Given the description of an element on the screen output the (x, y) to click on. 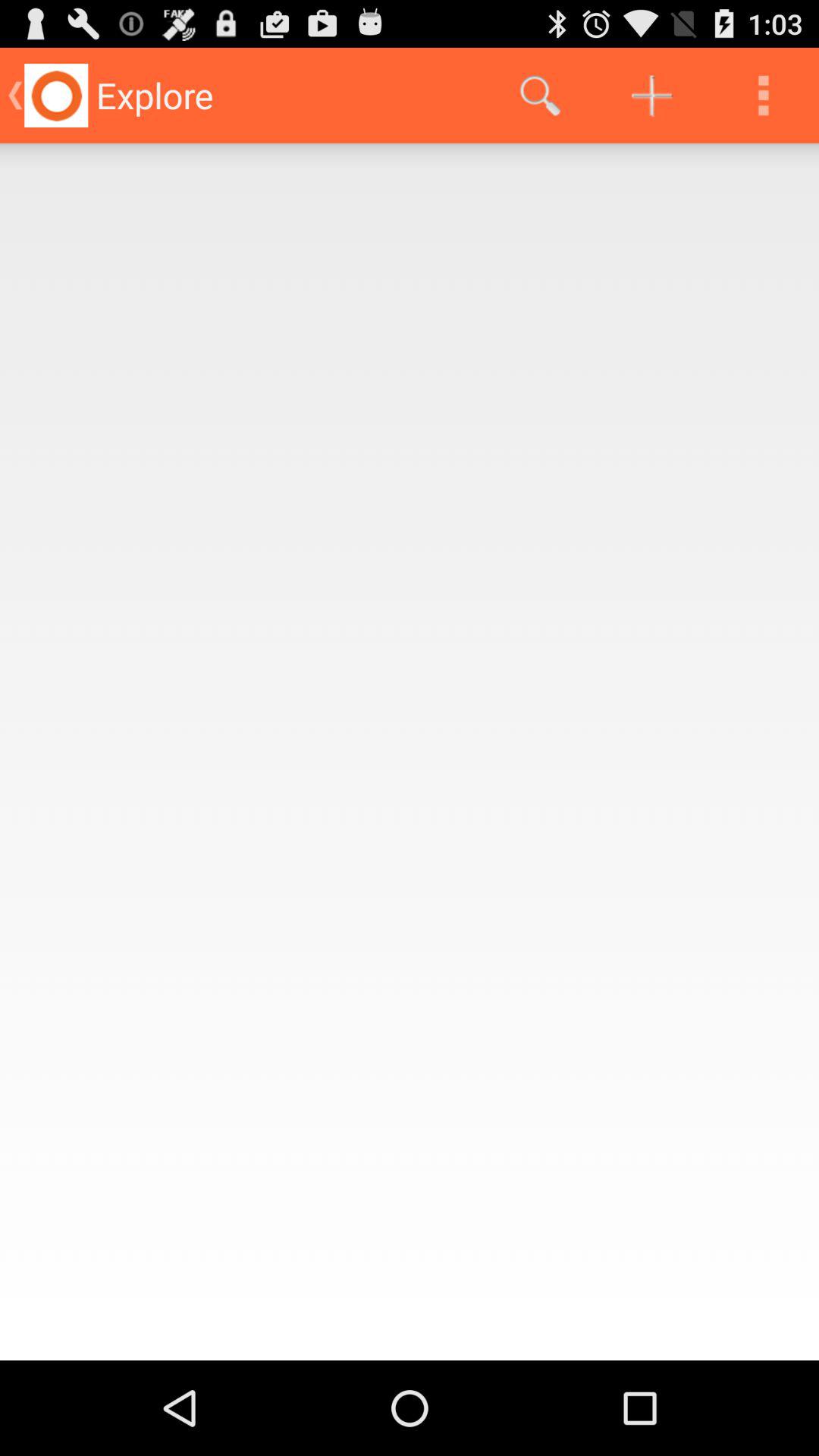
click the item at the center (409, 751)
